Given the description of an element on the screen output the (x, y) to click on. 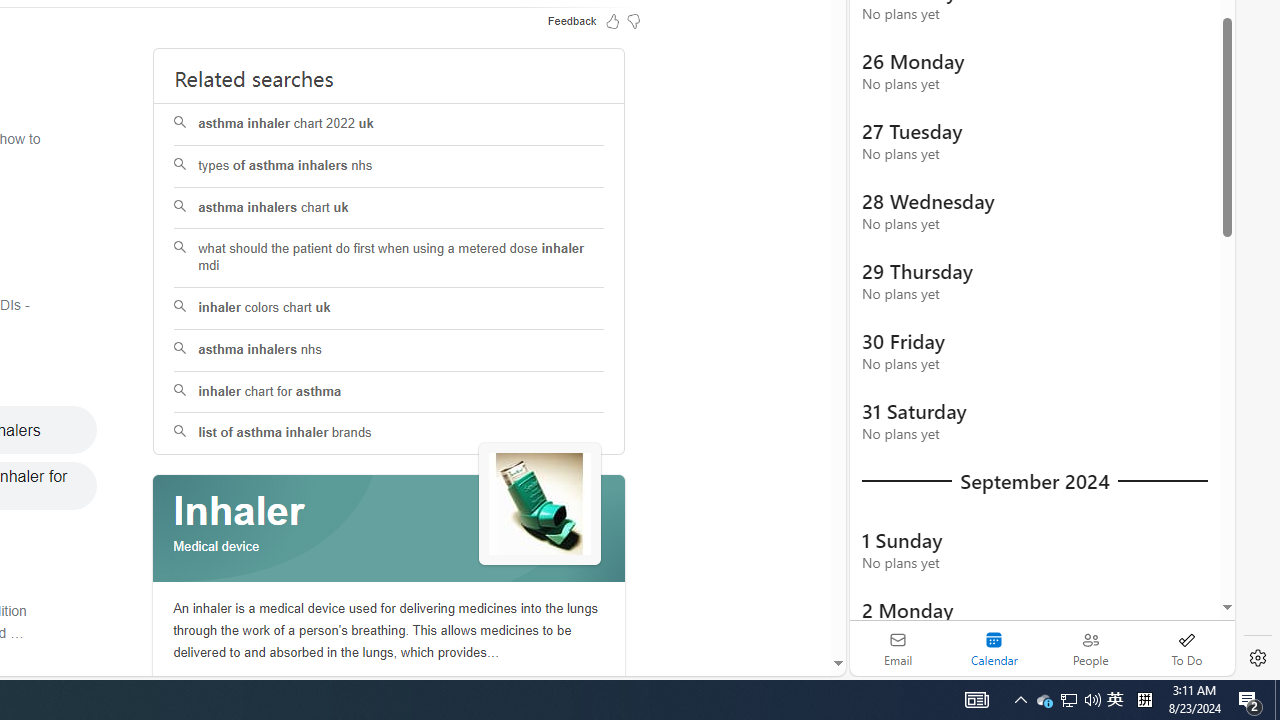
asthma inhalers nhs (389, 350)
People (1090, 648)
inhaler chart for asthma (388, 391)
inhaler colors chart uk (389, 308)
asthma inhalers nhs (388, 349)
asthma inhalers chart uk (388, 207)
See more images of Inhaler (539, 505)
list of asthma inhaler brands (389, 434)
Class: spl_logobg (389, 529)
Selected calendar module. Date today is 22 (994, 648)
